Given the description of an element on the screen output the (x, y) to click on. 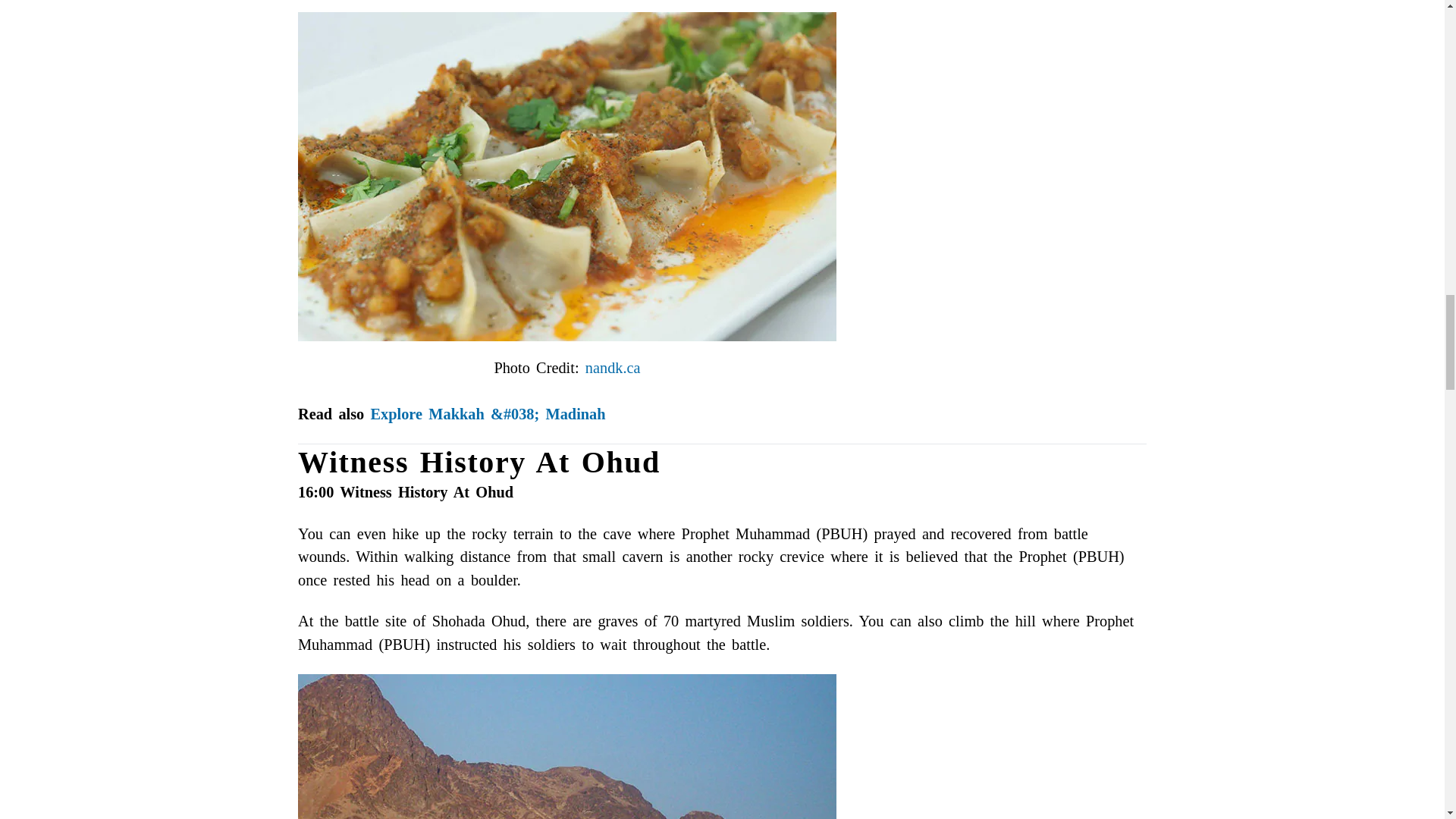
A First-Timers Guide To Madinah 17 (566, 746)
nandk.ca (612, 367)
